Given the description of an element on the screen output the (x, y) to click on. 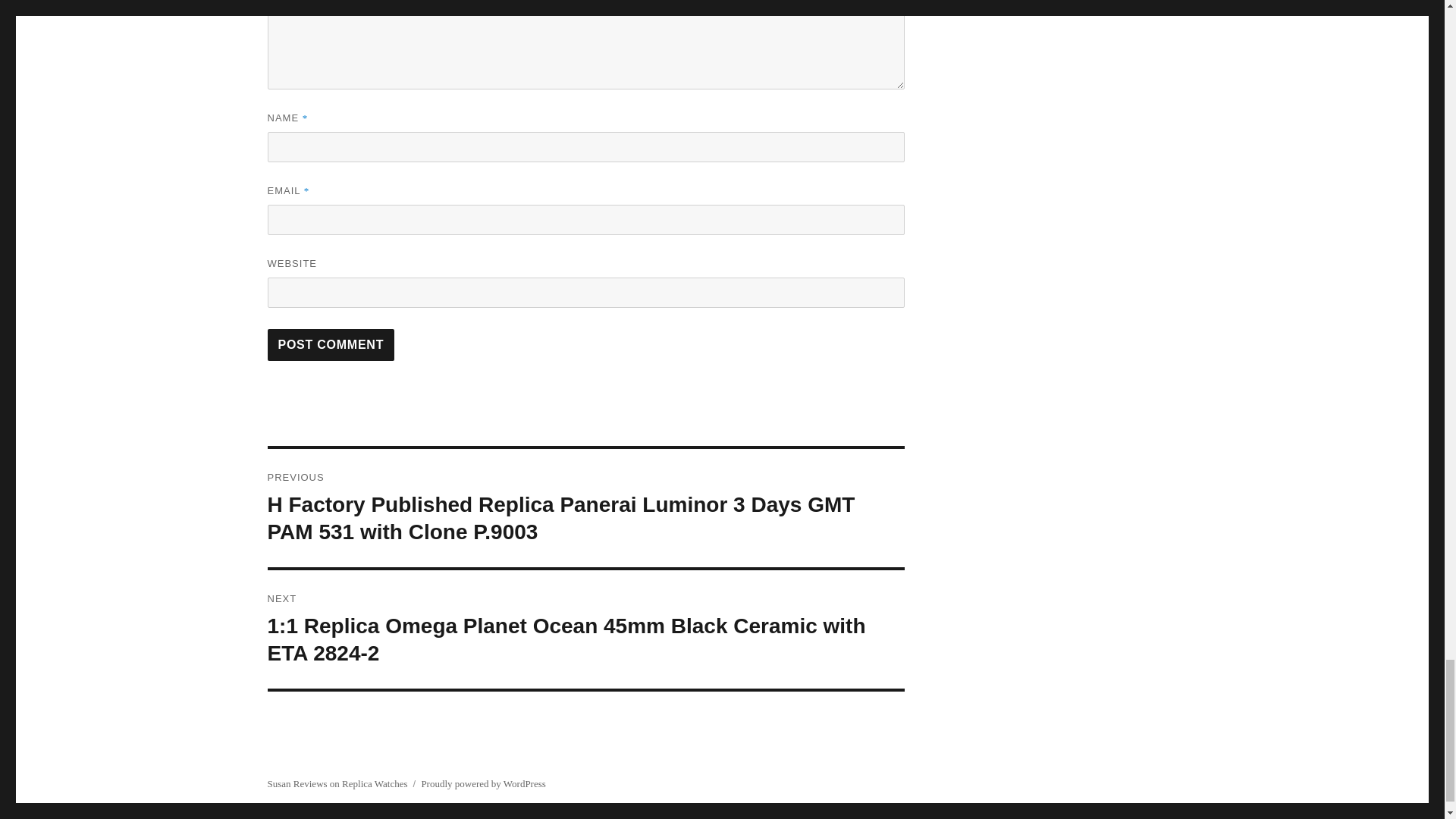
Post Comment (330, 345)
Post Comment (330, 345)
